Given the description of an element on the screen output the (x, y) to click on. 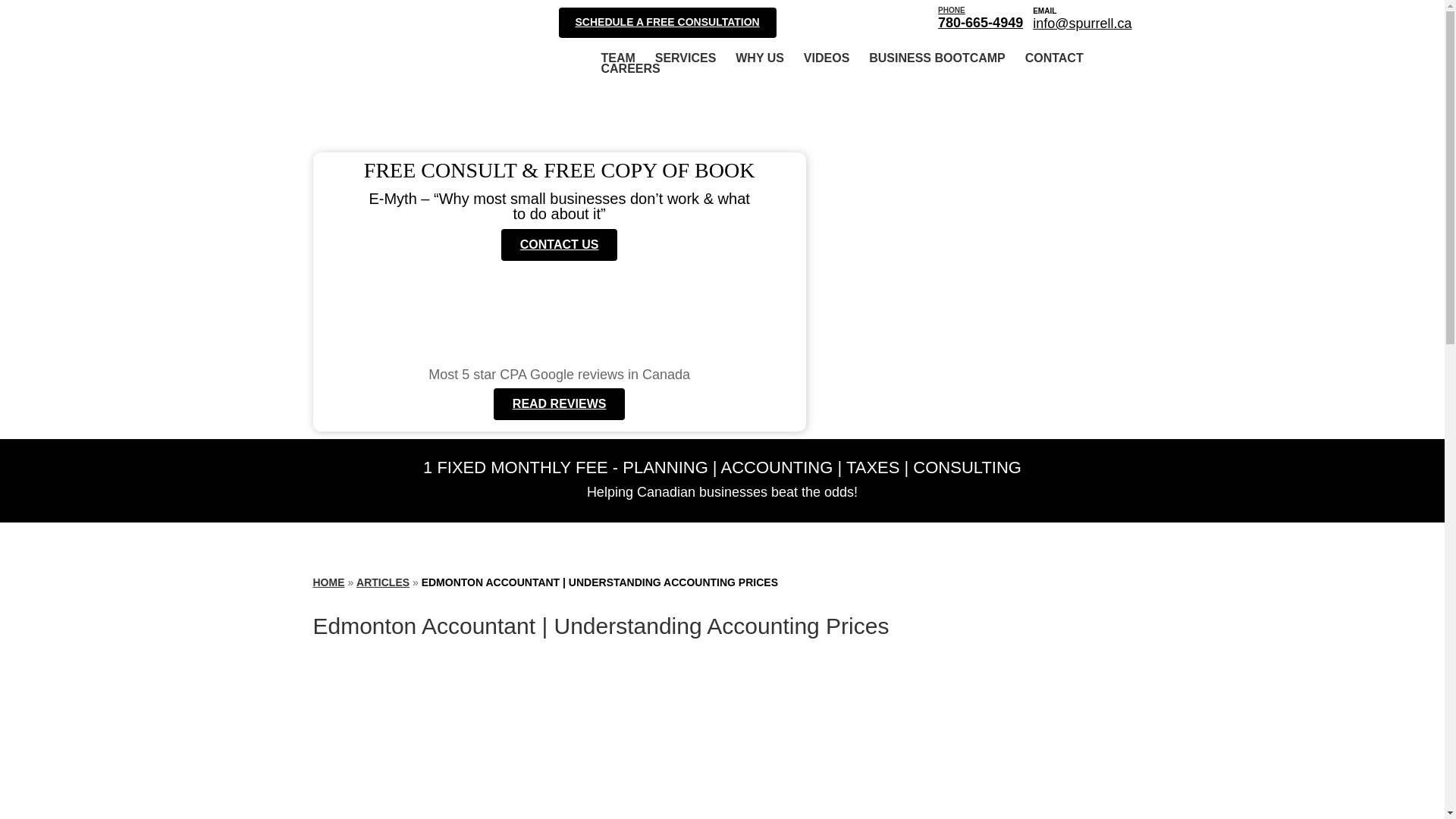
VIDEOS (825, 58)
WHY US (759, 58)
TEAM (616, 58)
CAREERS (629, 68)
HOME (980, 16)
CONTACT US (328, 582)
BUSINESS BOOTCAMP (558, 245)
SCHEDULE A FREE CONSULTATION (937, 58)
SERVICES (666, 22)
